Given the description of an element on the screen output the (x, y) to click on. 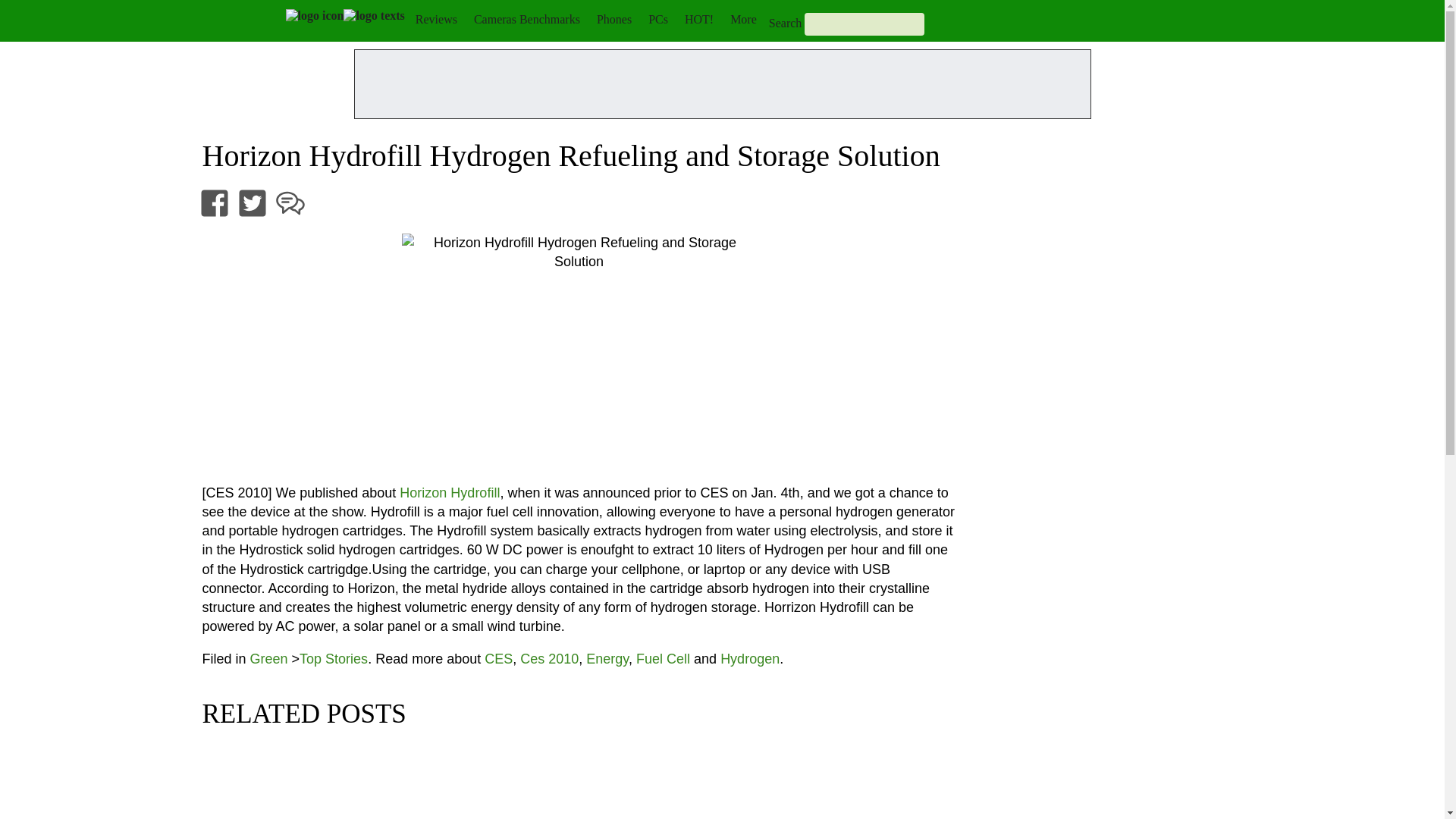
Cameras Benchmarks (526, 19)
Horizon Hydrofill Hydrogen Refueling and Storage Solution (579, 351)
Phones (613, 19)
PCs (657, 19)
Reviews (435, 19)
